Given the description of an element on the screen output the (x, y) to click on. 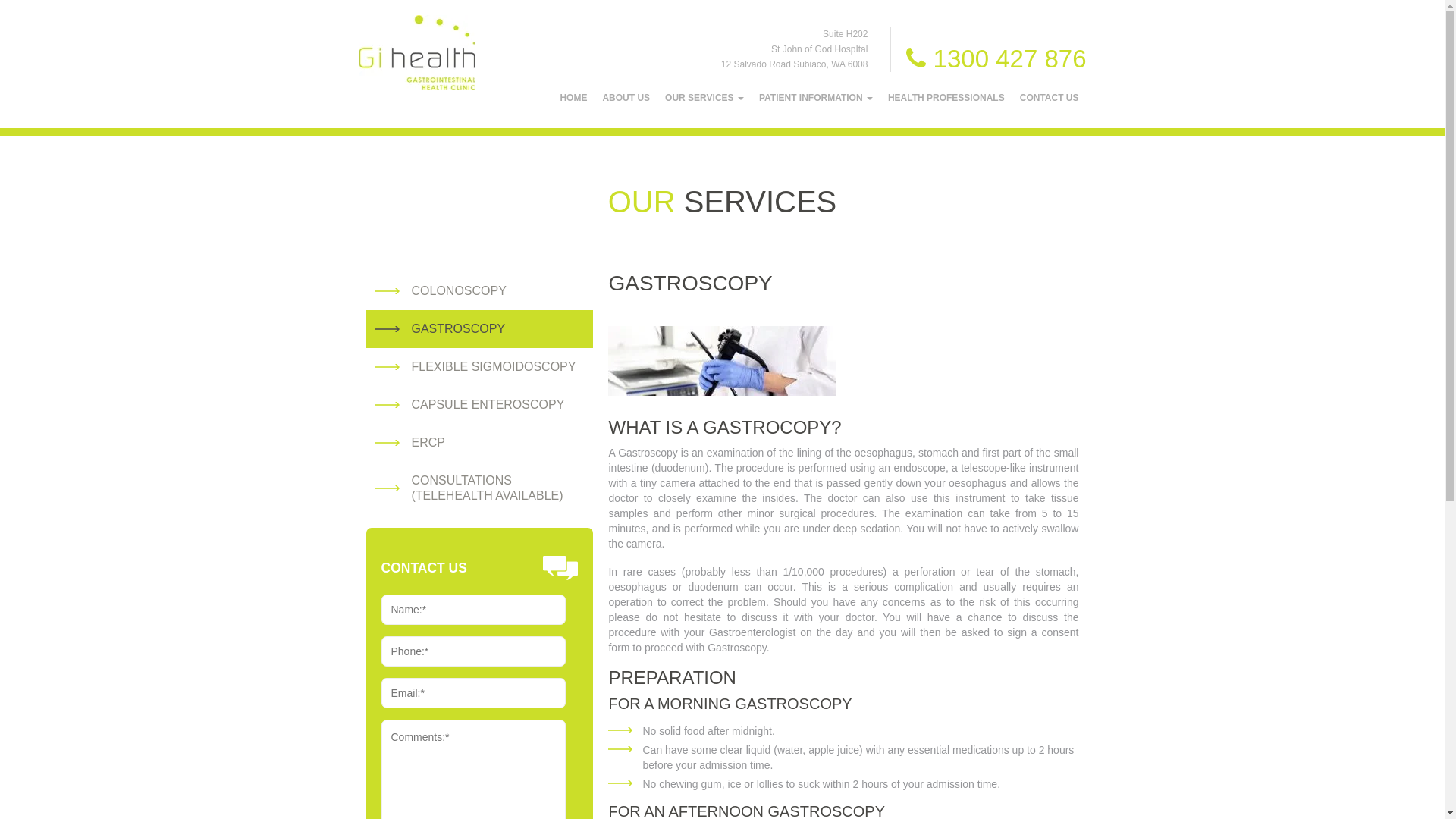
GASTROSCOPY Element type: text (458, 328)
GI Health Clinic Element type: hover (415, 52)
CONTACT US Element type: text (1049, 97)
ERCP Element type: text (427, 442)
HEALTH PROFESSIONALS Element type: text (946, 97)
OUR SERVICES Element type: text (704, 97)
HOME Element type: text (573, 97)
CAPSULE ENTEROSCOPY Element type: text (487, 404)
PATIENT INFORMATION Element type: text (815, 97)
ABOUT US Element type: text (625, 97)
COLONOSCOPY Element type: text (458, 290)
1300 427 876 Element type: text (995, 58)
FLEXIBLE SIGMOIDOSCOPY Element type: text (493, 366)
CONSULTATIONS (TELEHEALTH AVAILABLE) Element type: text (486, 487)
